Given the description of an element on the screen output the (x, y) to click on. 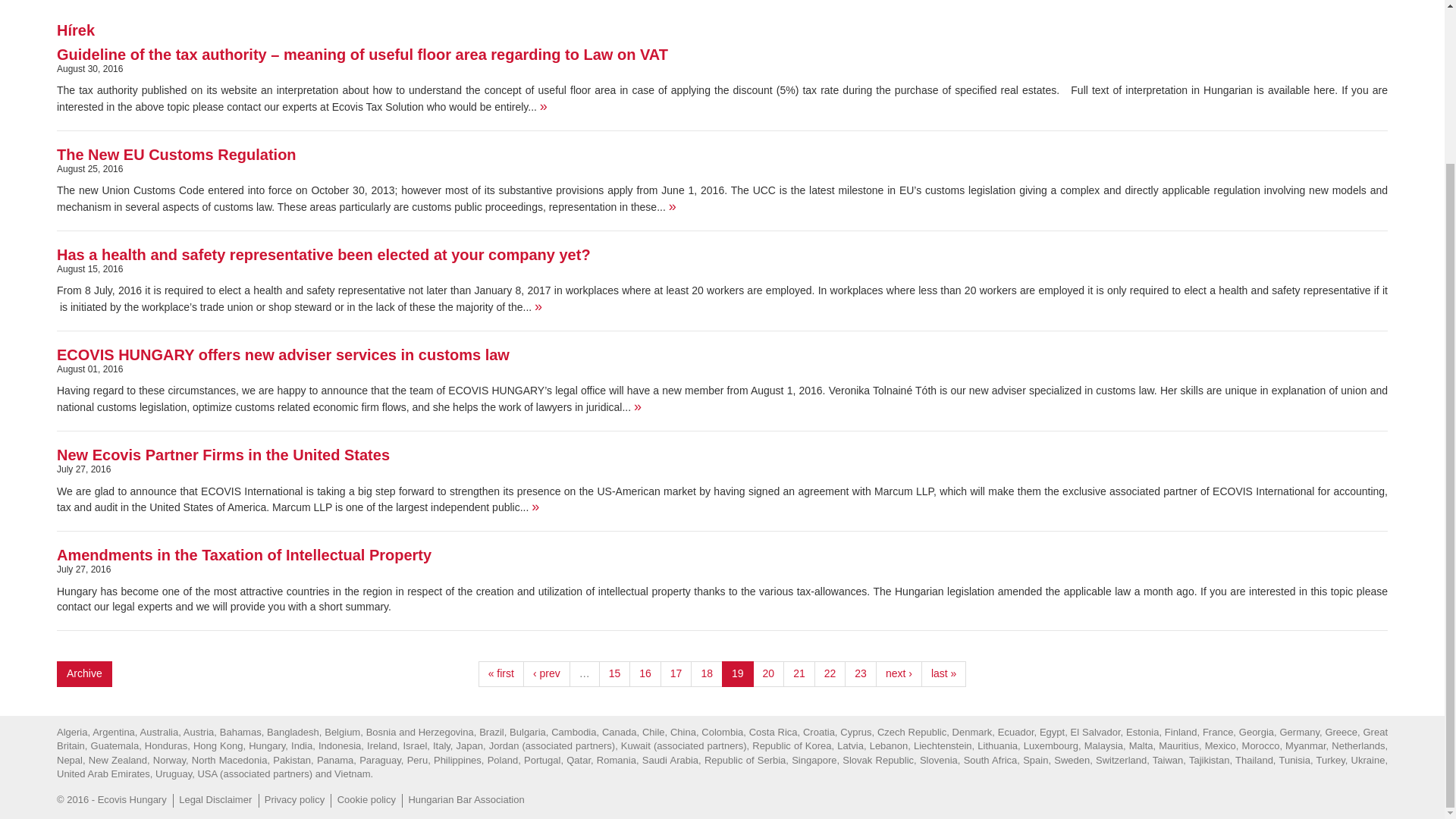
Go to page 16 (644, 673)
Go to page 17 (677, 673)
Go to first page (501, 673)
Go to page 15 (614, 673)
The New EU Customs Regulation (176, 154)
Go to page 18 (706, 673)
